Given the description of an element on the screen output the (x, y) to click on. 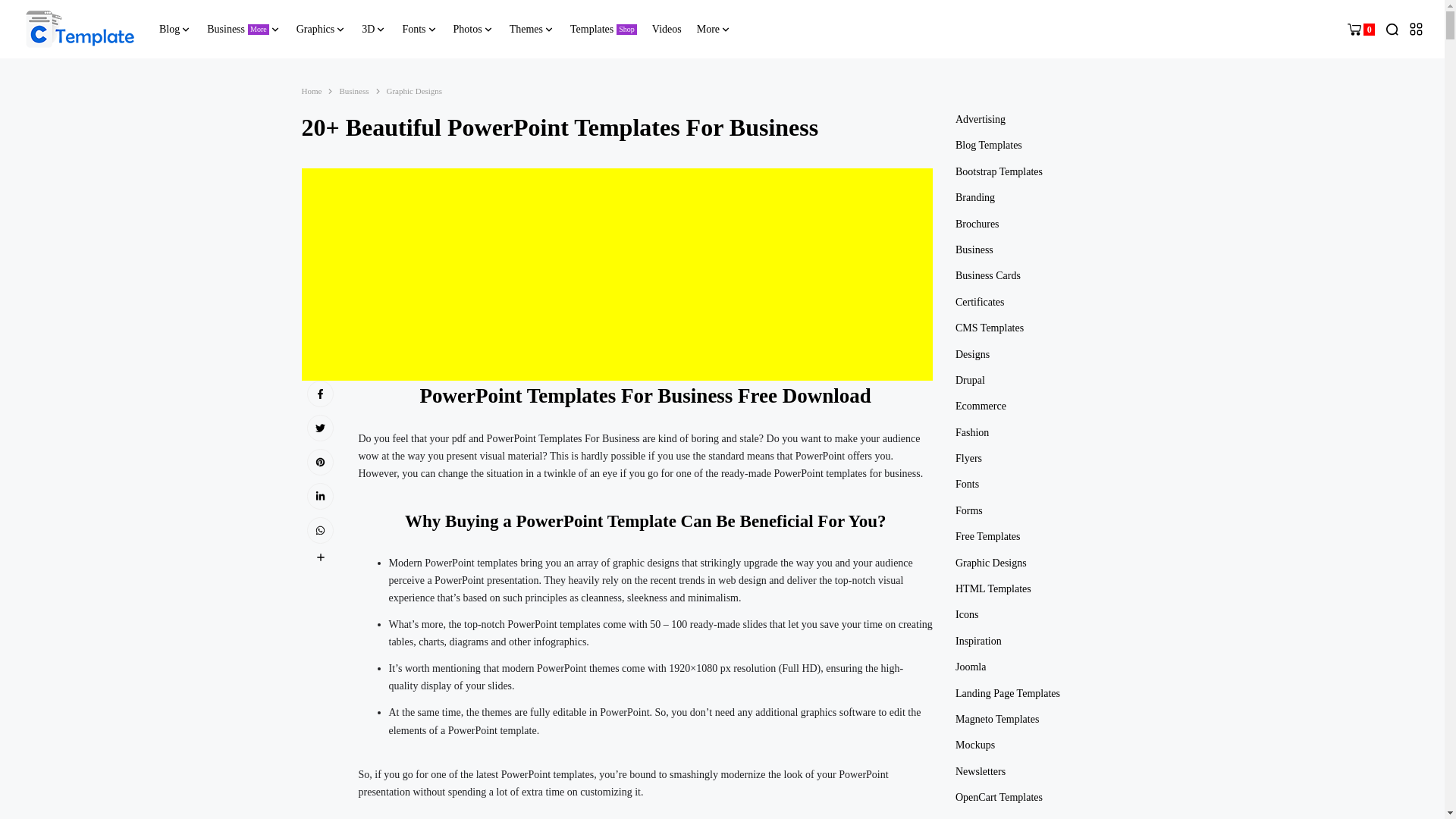
Advertisement (617, 274)
CreativeTemplate (79, 28)
Cart (243, 29)
